Given the description of an element on the screen output the (x, y) to click on. 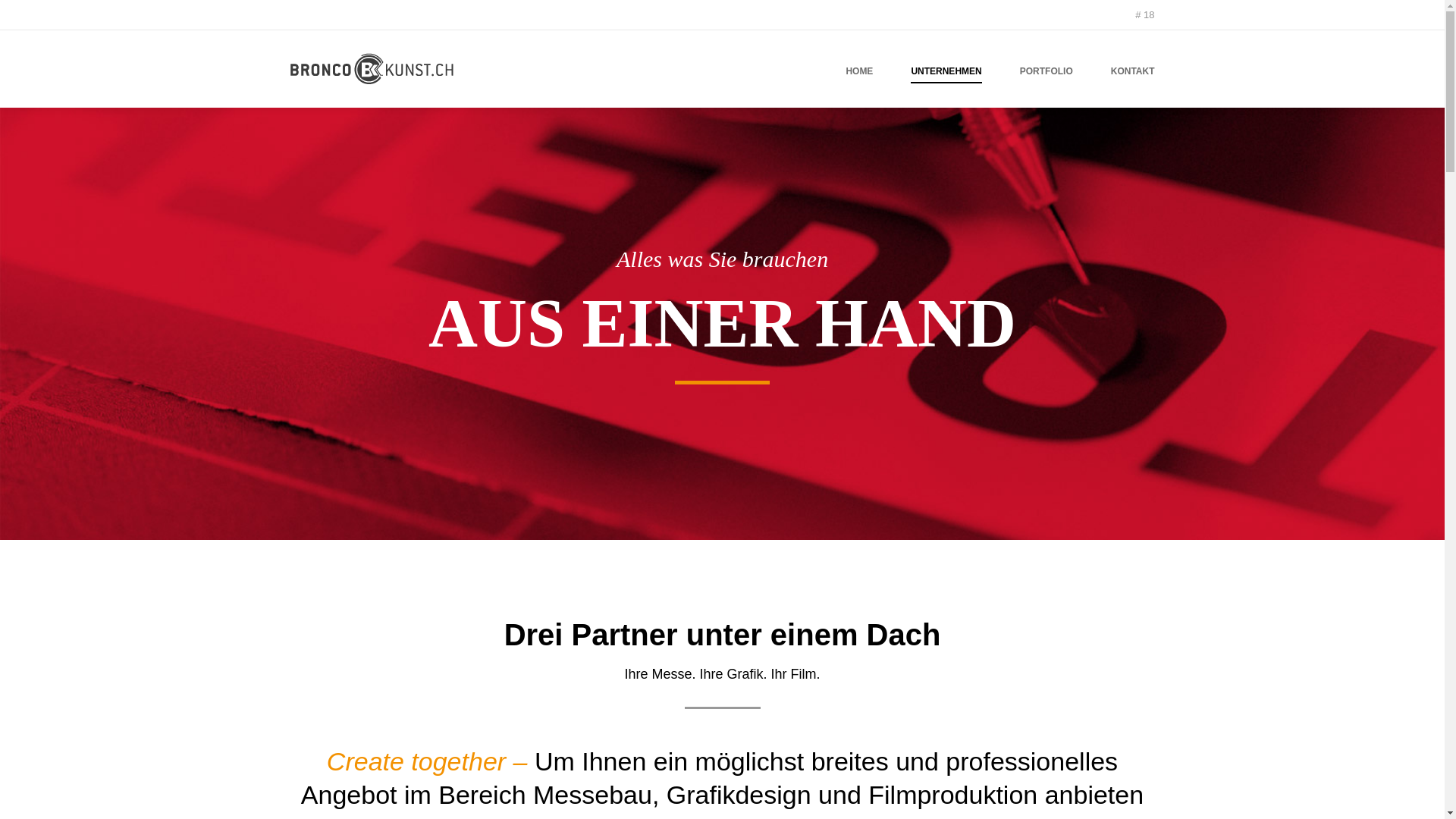
KONTAKT Element type: text (1151, 73)
UNTERNEHMEN Element type: text (964, 73)
PORTFOLIO Element type: text (1064, 73)
HOME Element type: text (877, 73)
